Given the description of an element on the screen output the (x, y) to click on. 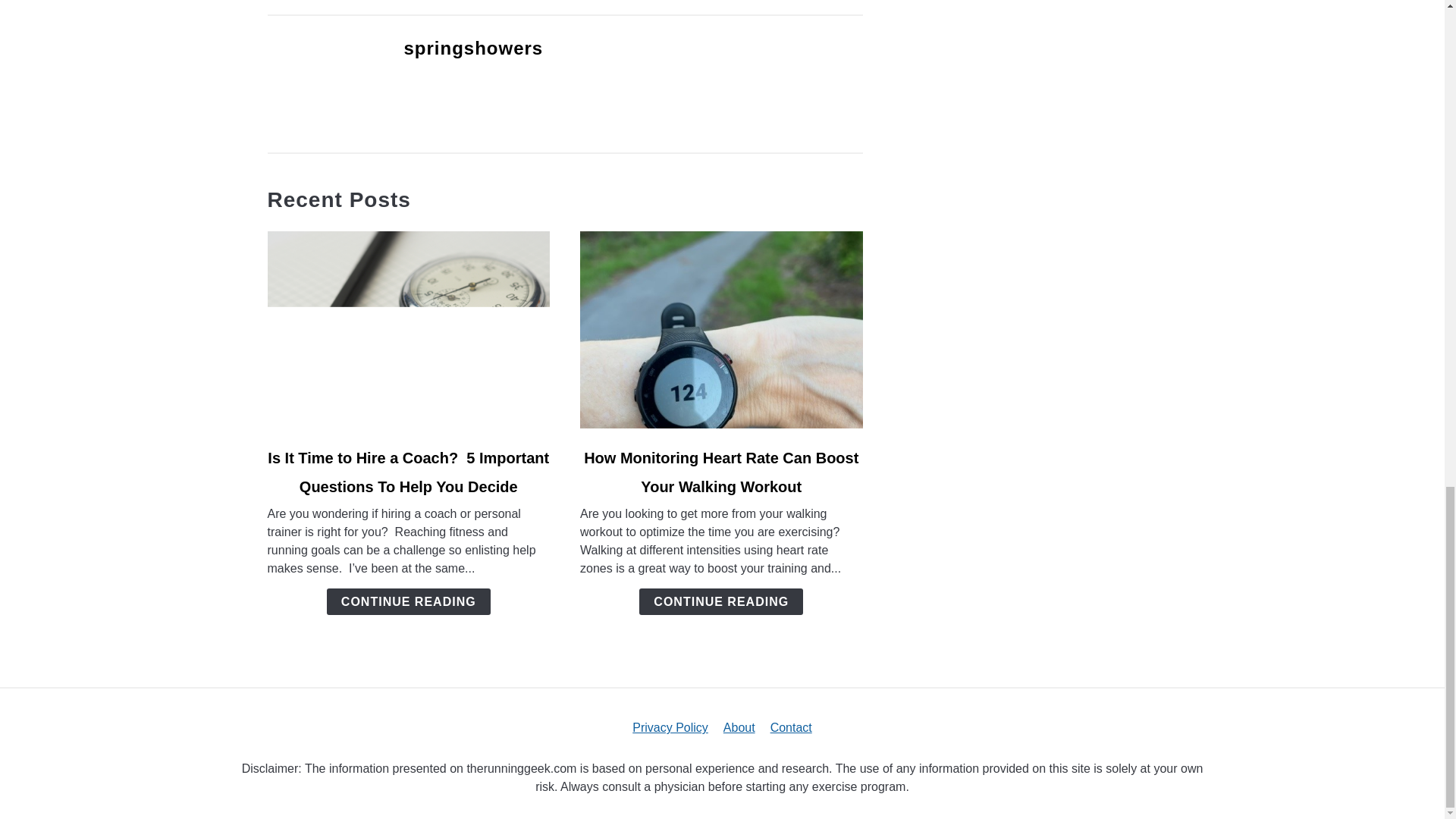
How Monitoring Heart Rate Can Boost Your Walking Workout (721, 472)
About (739, 727)
CONTINUE READING (721, 601)
springshowers (473, 47)
Privacy Policy (669, 727)
CONTINUE READING (408, 601)
Contact (791, 727)
